Given the description of an element on the screen output the (x, y) to click on. 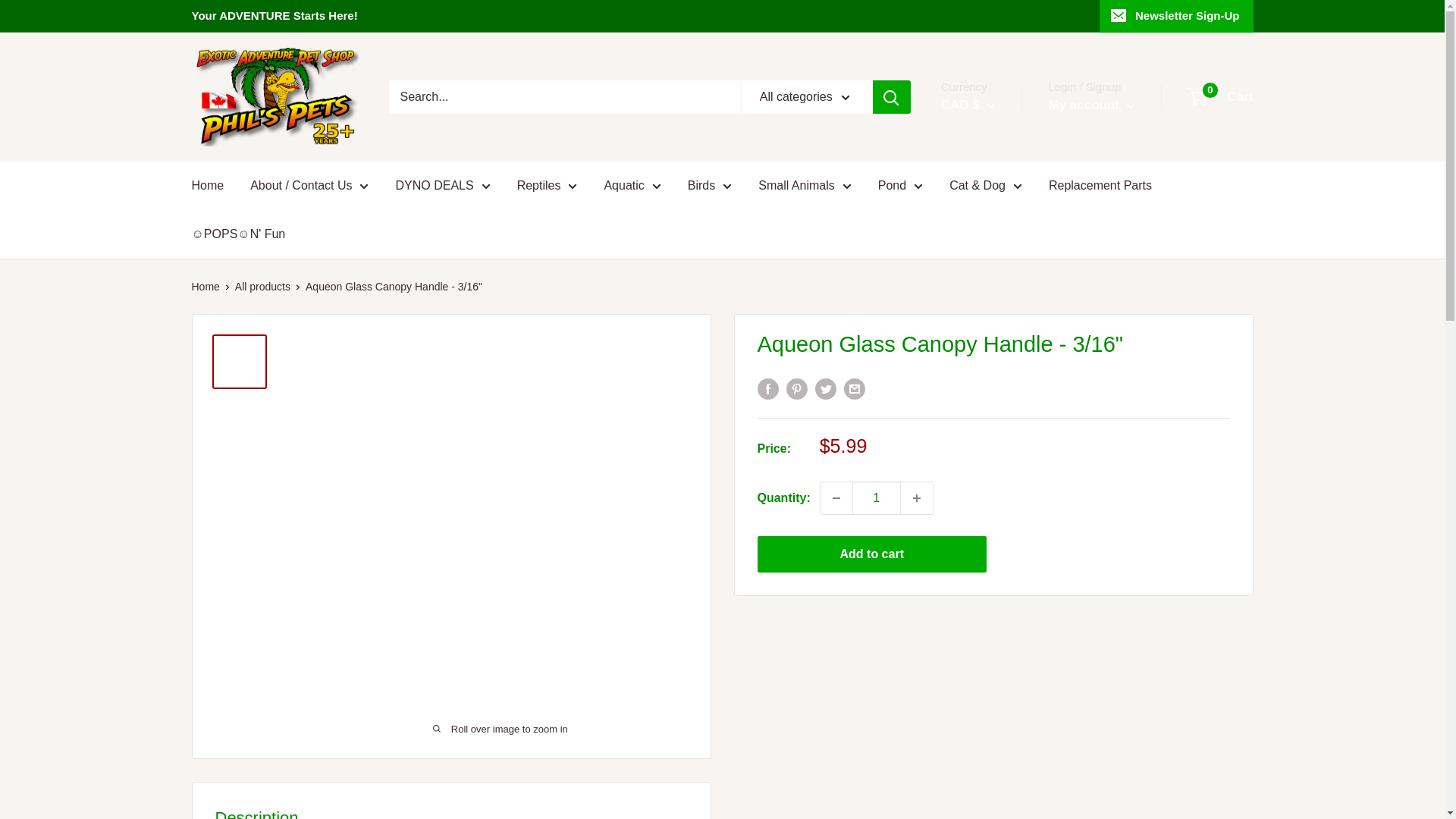
Decrease quantity by 1 (836, 498)
Newsletter Sign-Up (1176, 15)
Increase quantity by 1 (917, 498)
1 (876, 498)
